Given the description of an element on the screen output the (x, y) to click on. 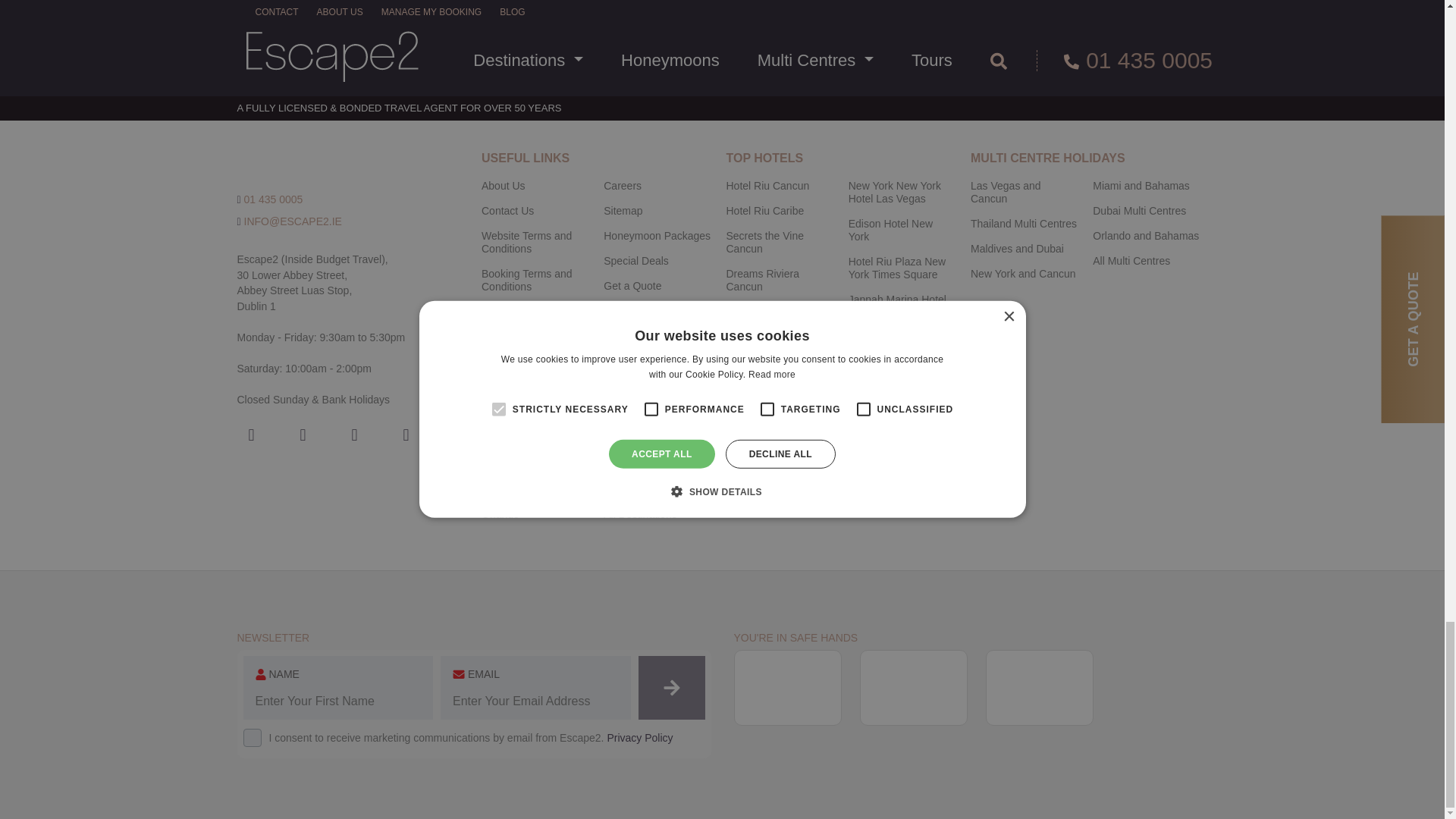
Escape2 on Twitter (405, 434)
Escape2 on Facebook (249, 434)
Escape2 on Instagram (302, 434)
Escape2 (320, 158)
Escape2 on Youtube (353, 434)
